Given the description of an element on the screen output the (x, y) to click on. 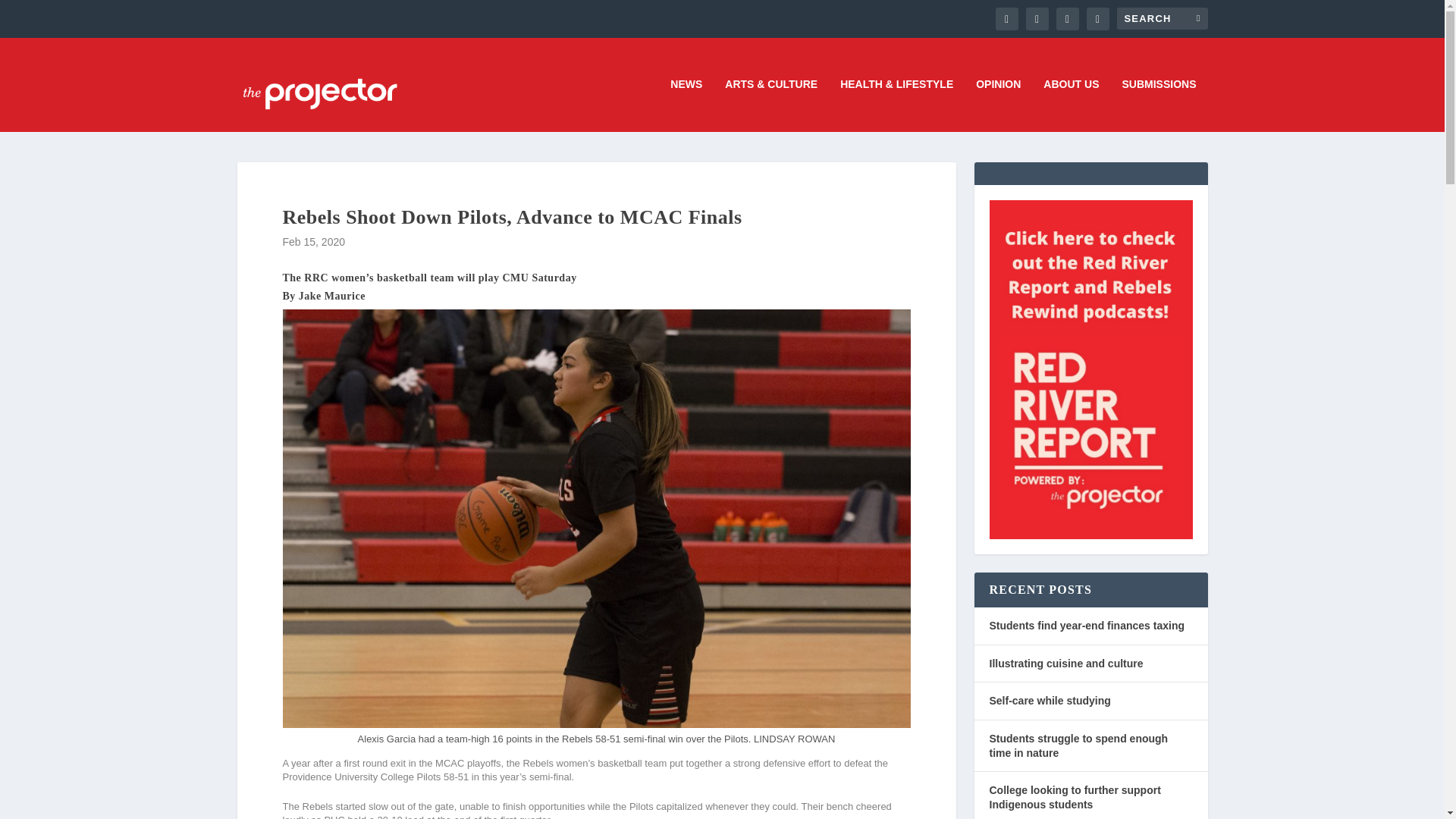
Students find year-end finances taxing (1086, 625)
ABOUT US (1071, 104)
Self-care while studying (1048, 700)
Illustrating cuisine and culture (1065, 663)
Search for: (1161, 18)
SUBMISSIONS (1158, 104)
